Given the description of an element on the screen output the (x, y) to click on. 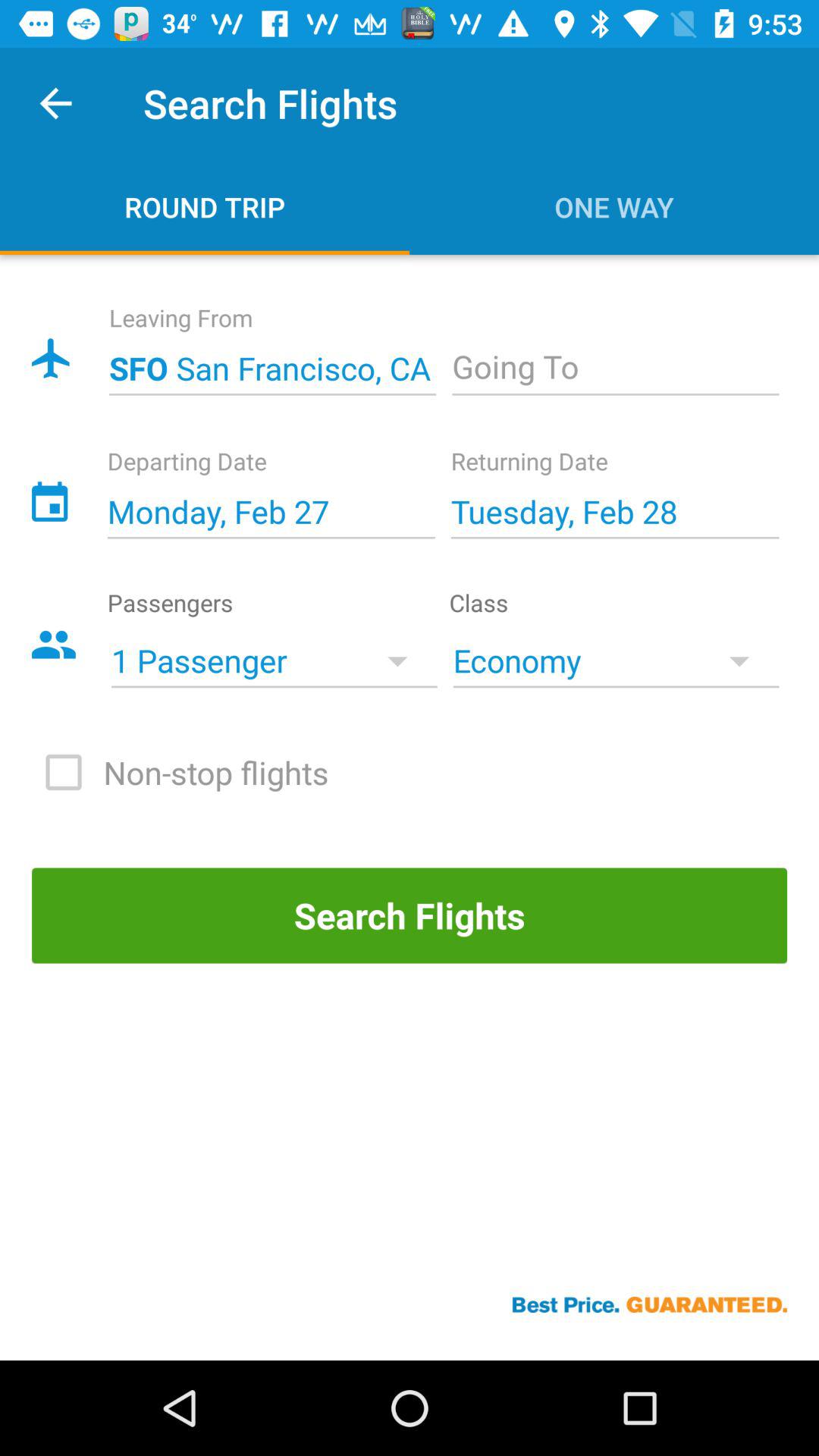
describe the airport you are going to (615, 368)
